Given the description of an element on the screen output the (x, y) to click on. 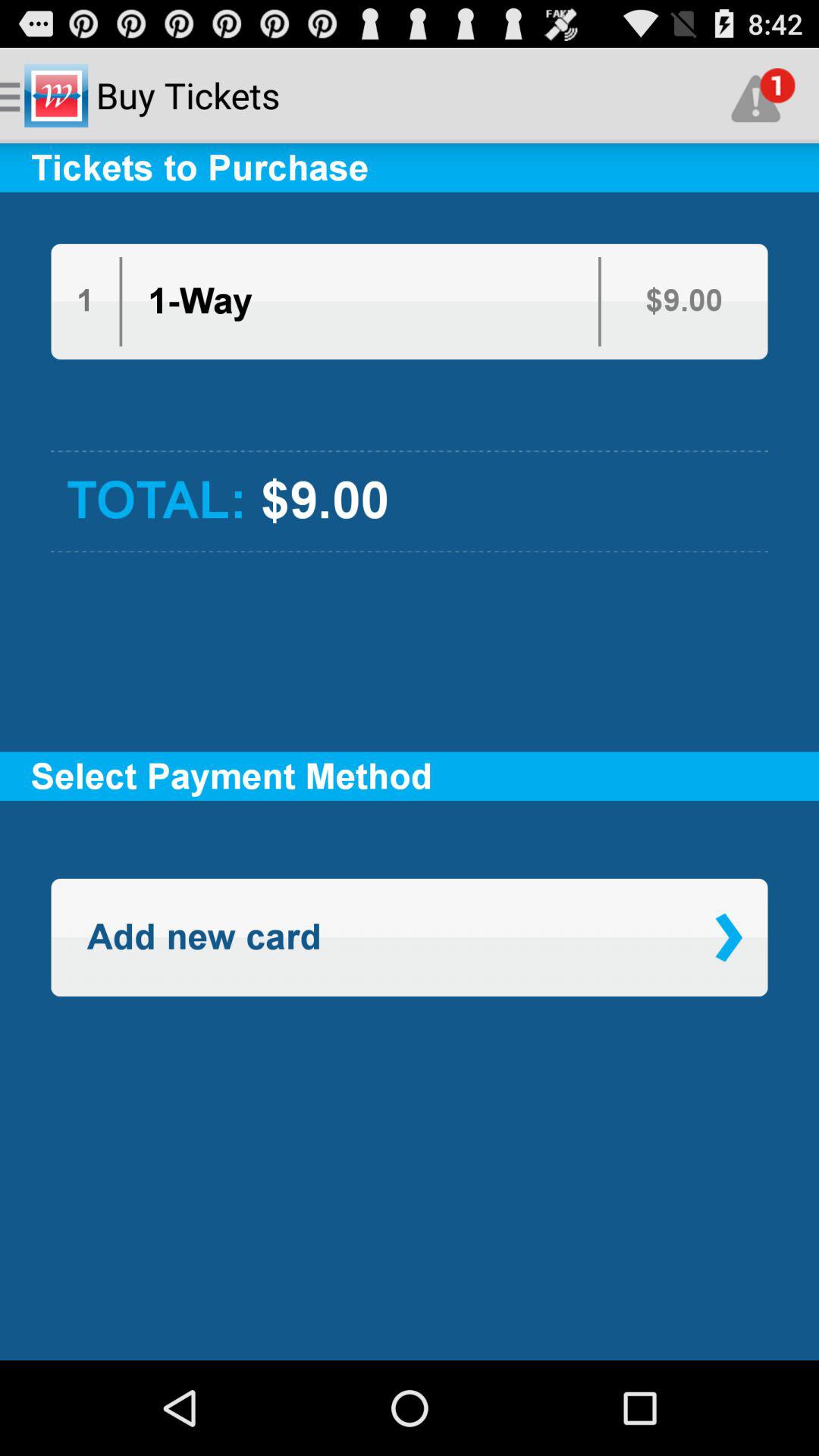
scroll until the total: $9.00 item (409, 501)
